Given the description of an element on the screen output the (x, y) to click on. 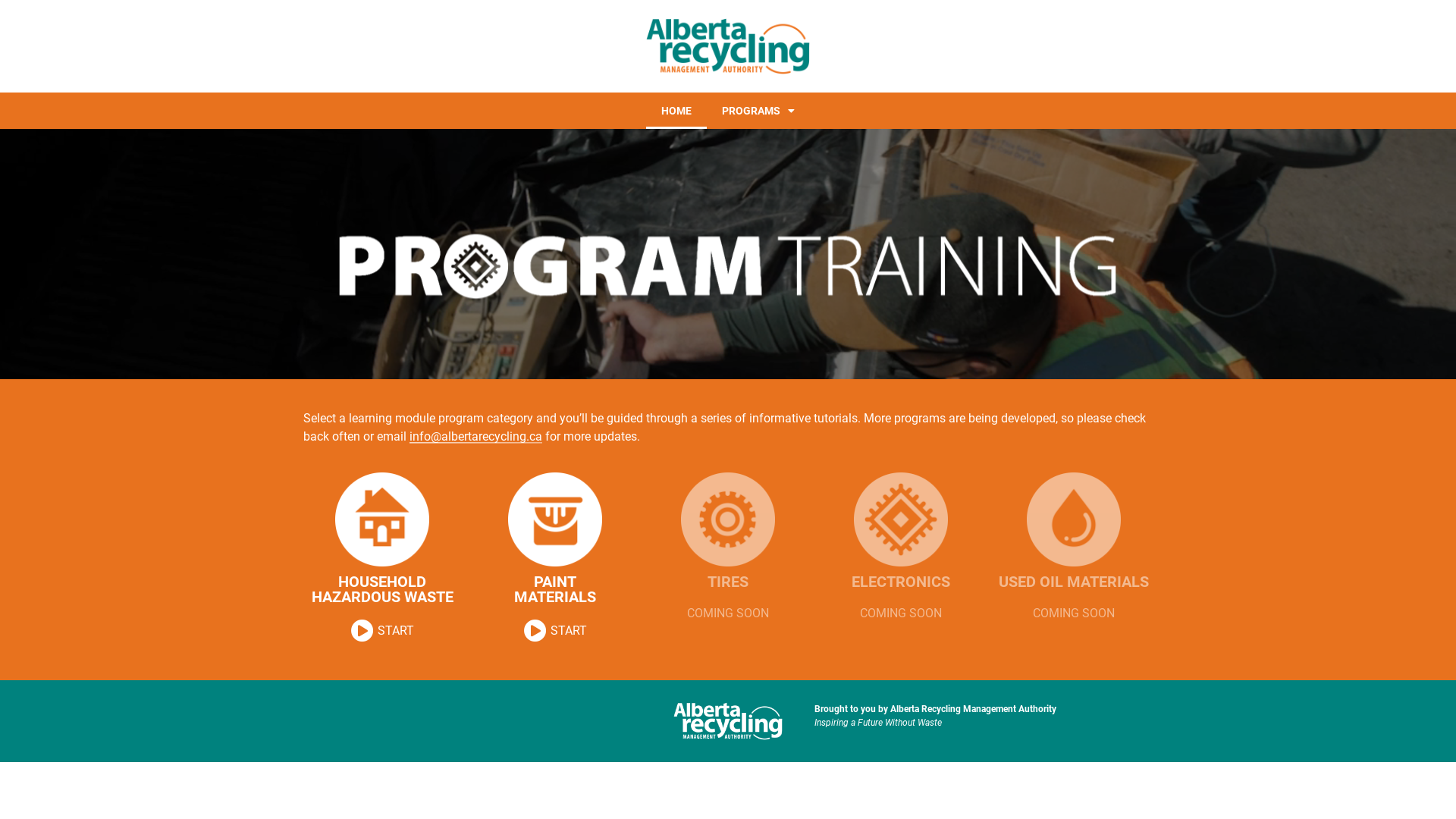
START Element type: text (382, 630)
HOME Element type: text (676, 110)
START Element type: text (554, 630)
PROGRAMS Element type: text (757, 110)
info@albertarecycling.ca Element type: text (475, 436)
